Given the description of an element on the screen output the (x, y) to click on. 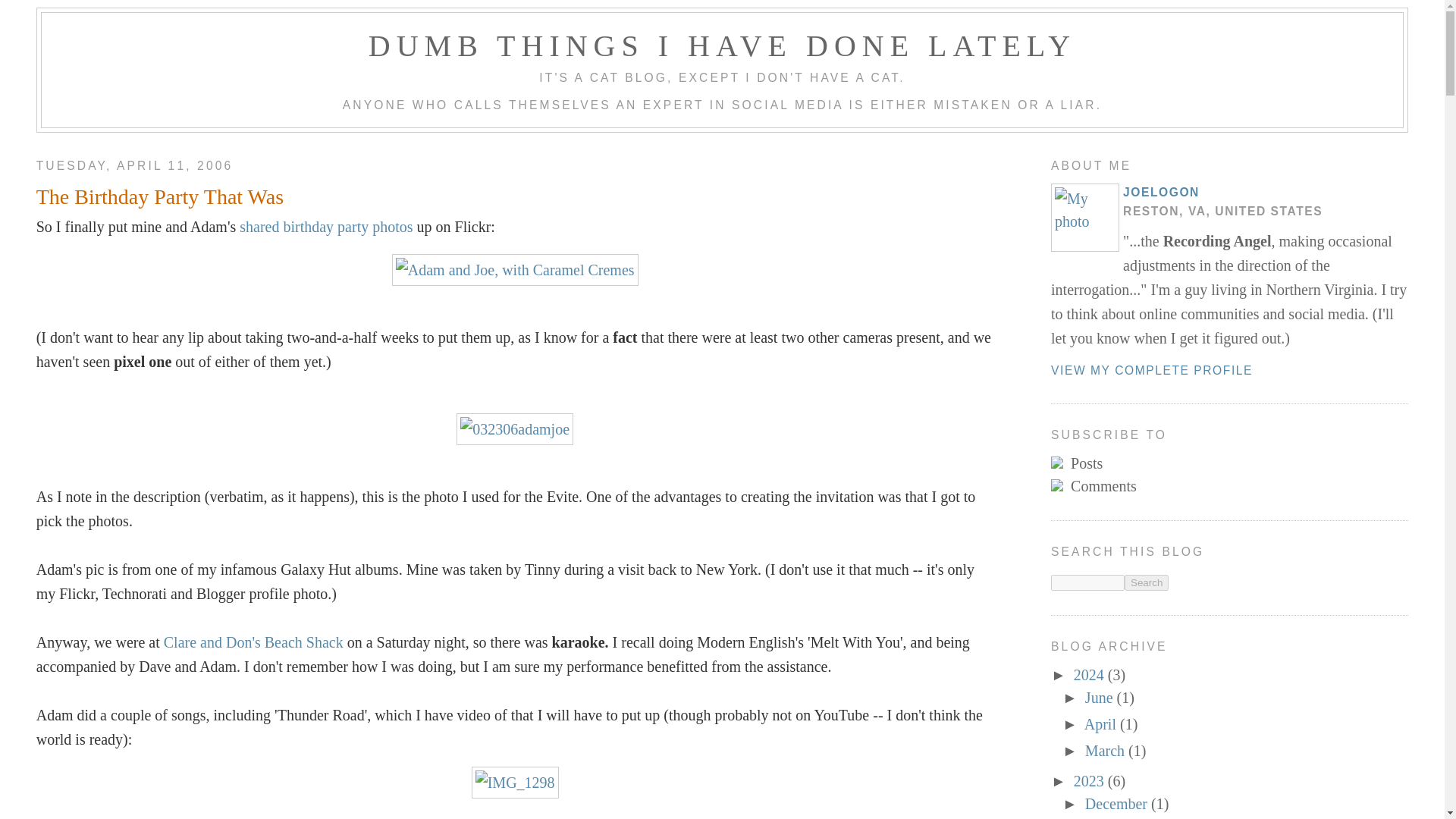
Search (1146, 582)
The Evite photo (515, 428)
March (1106, 750)
June (1100, 697)
Search (1146, 582)
search (1087, 582)
Kathleen and Adam sing Thunder Road (515, 782)
JOELOGON (1160, 192)
Search (1146, 582)
search (1146, 582)
2024 (1091, 674)
April (1101, 723)
DUMB THINGS I HAVE DONE LATELY (721, 45)
Clare and Don's Beach Shack (253, 641)
VIEW MY COMPLETE PROFILE (1151, 369)
